Given the description of an element on the screen output the (x, y) to click on. 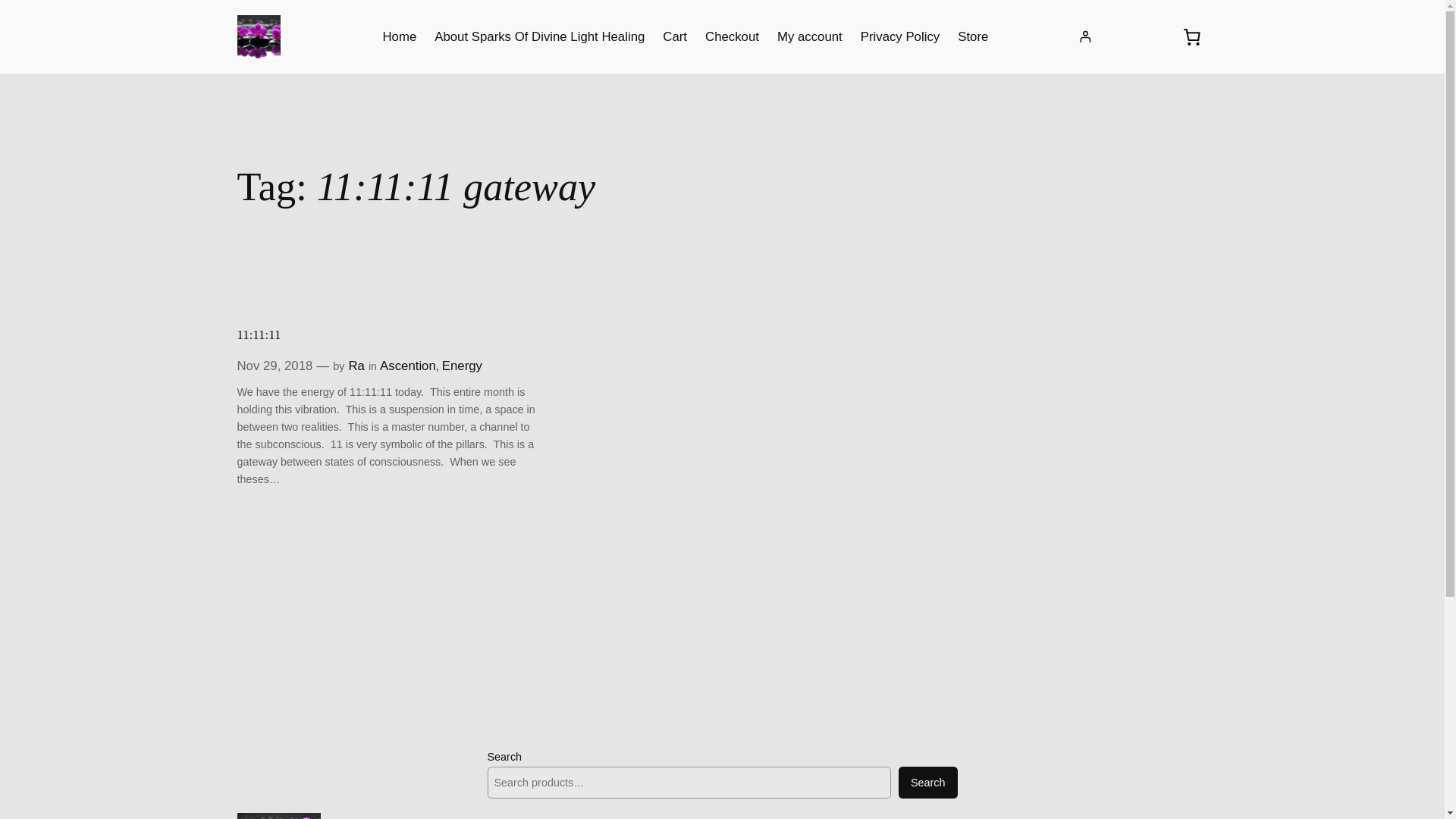
Nov 29, 2018 (274, 365)
Energy (461, 365)
11:11:11 (258, 334)
Cart (674, 36)
About Sparks Of Divine Light Healing (539, 36)
Ra (355, 365)
My account (810, 36)
Privacy Policy (899, 36)
Home (398, 36)
Ascention (407, 365)
